Given the description of an element on the screen output the (x, y) to click on. 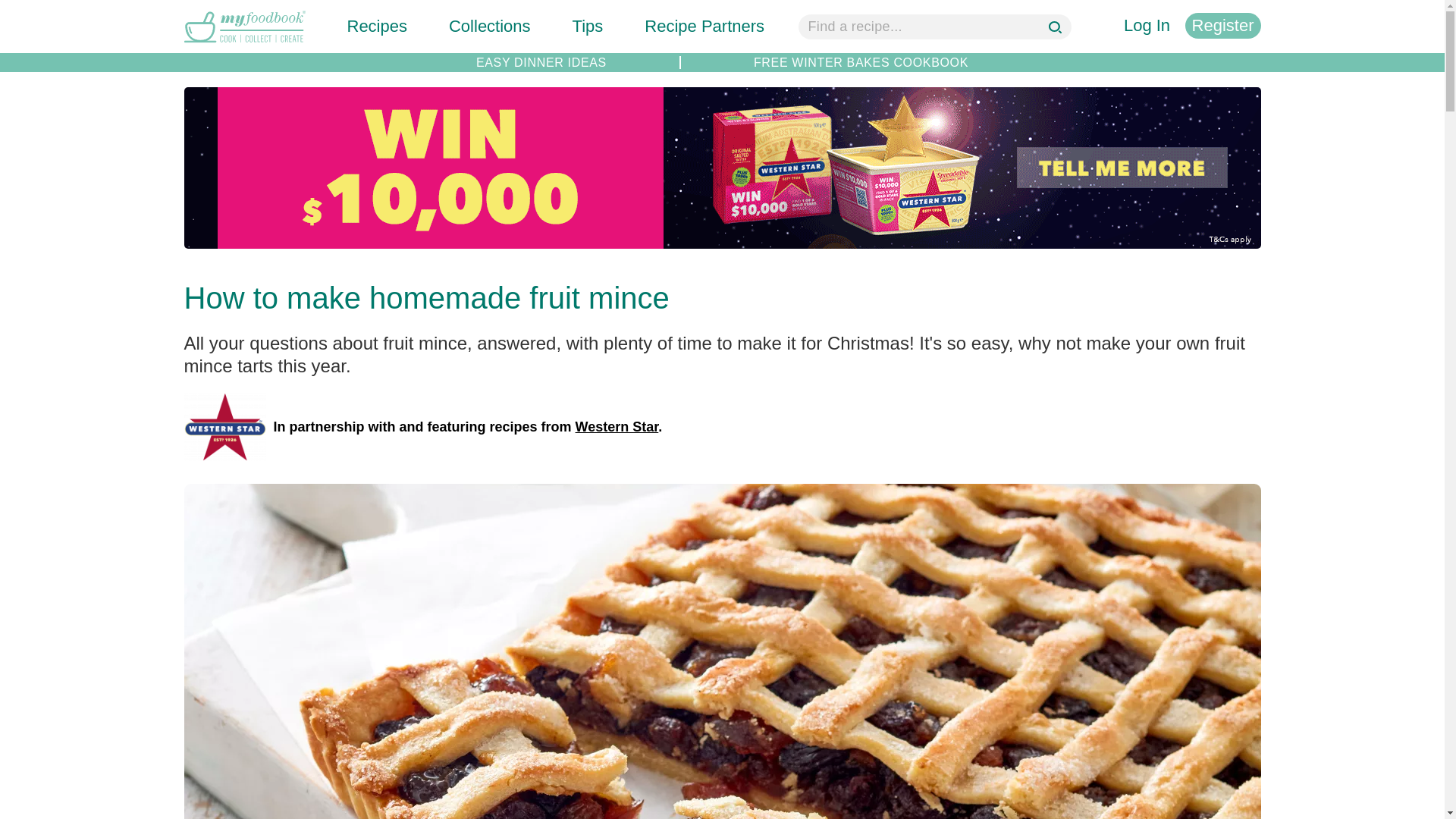
go (1056, 28)
Rate (17, 7)
Recipe Partners (704, 26)
Recipes (377, 26)
Register (1222, 25)
Collections (489, 26)
go (1056, 28)
Western Star butter recipes (223, 427)
Dinner Recipes (541, 62)
Tips (588, 26)
FREE WINTER BAKES COOKBOOK (861, 62)
Log In (1146, 25)
myfoodbook home (243, 43)
Winter Bake Recipes Cookbook (861, 62)
EASY DINNER IDEAS (541, 62)
